Given the description of an element on the screen output the (x, y) to click on. 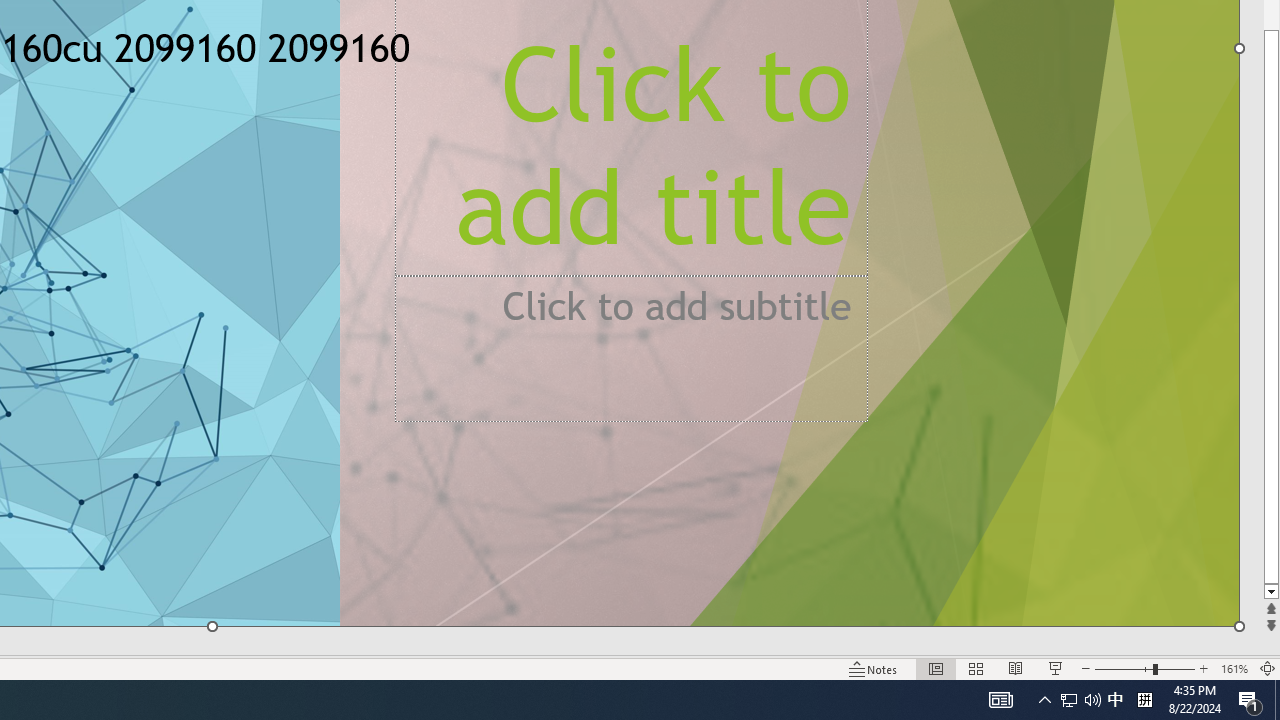
Zoom 161% (1234, 668)
